Given the description of an element on the screen output the (x, y) to click on. 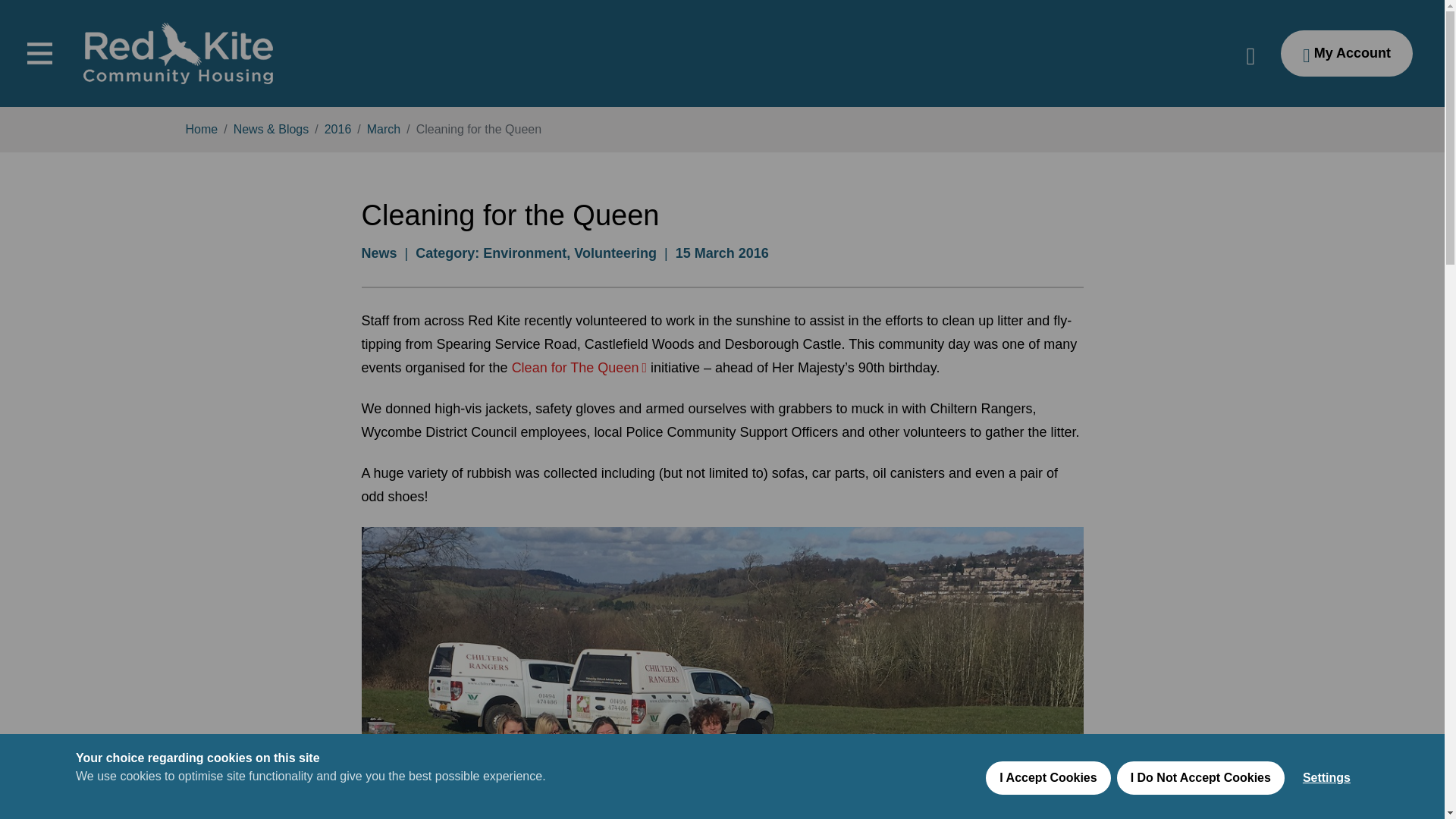
March (383, 128)
Settings (1326, 812)
Home (200, 128)
My Account (1346, 53)
2016 (338, 128)
Clean for The Queen (579, 367)
